Given the description of an element on the screen output the (x, y) to click on. 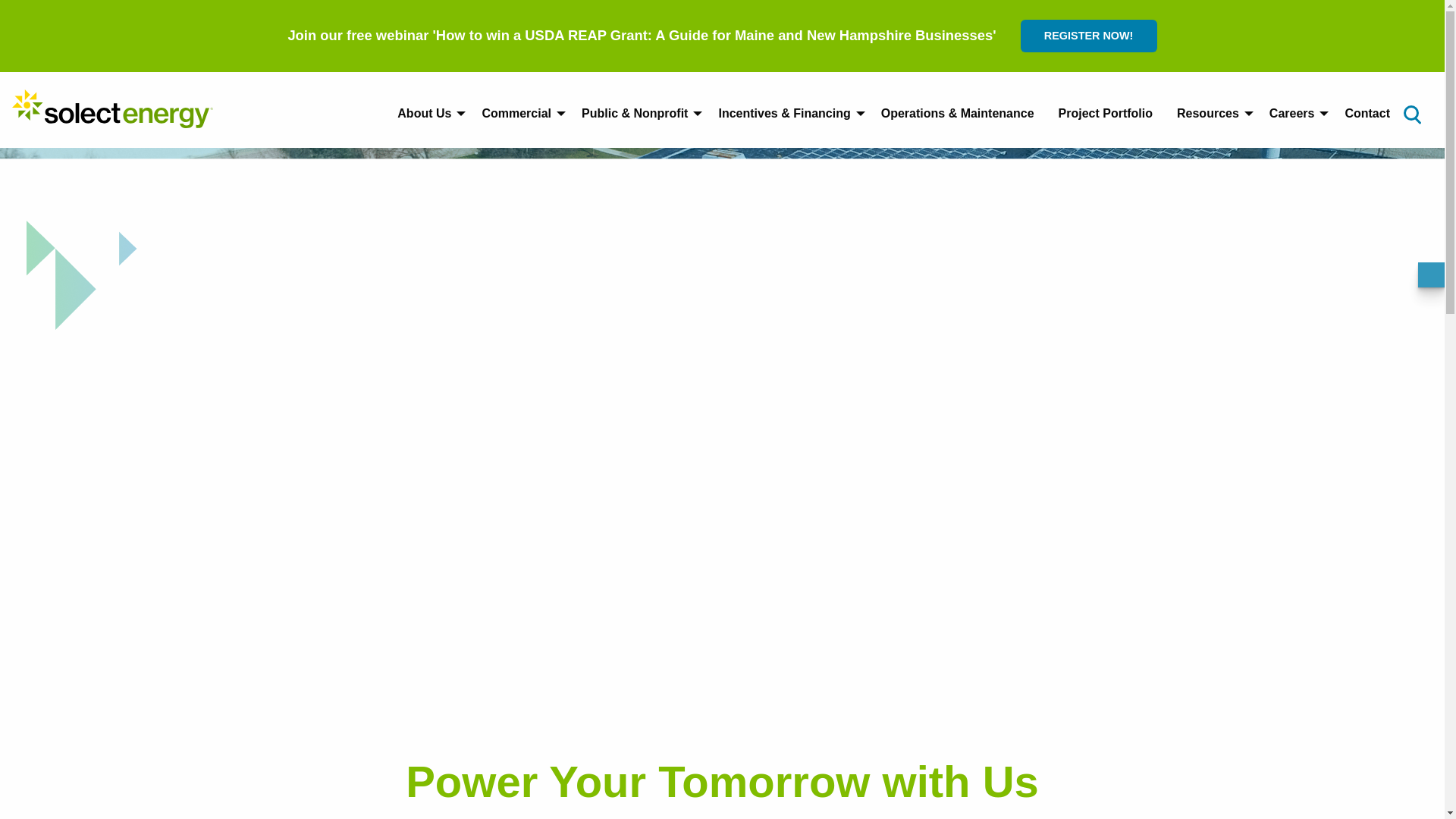
About Us (426, 113)
REGISTER NOW! (1088, 36)
Commercial (518, 113)
